Given the description of an element on the screen output the (x, y) to click on. 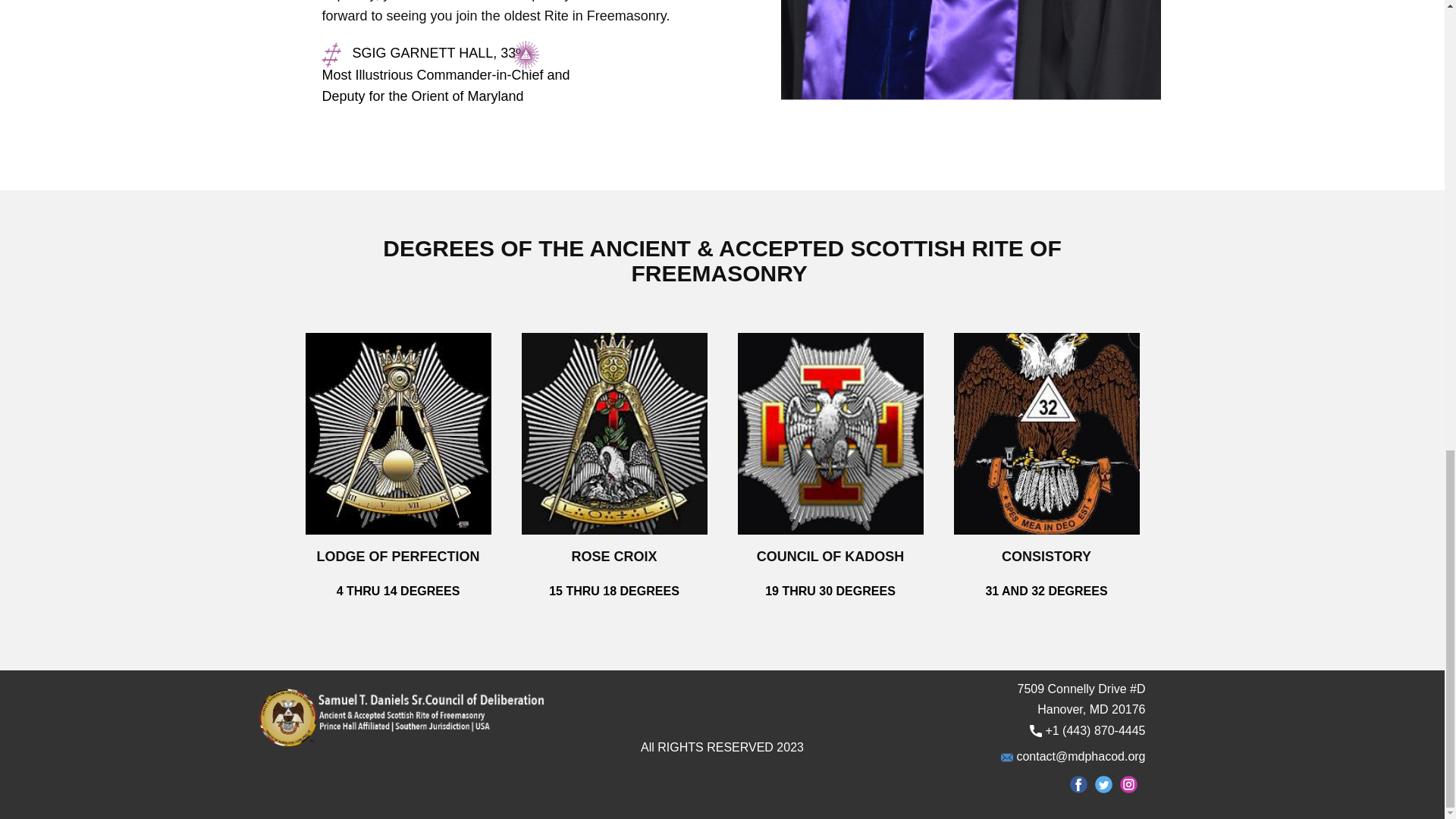
Instagram (1128, 784)
twitter (1103, 784)
facebook (1077, 784)
